Given the description of an element on the screen output the (x, y) to click on. 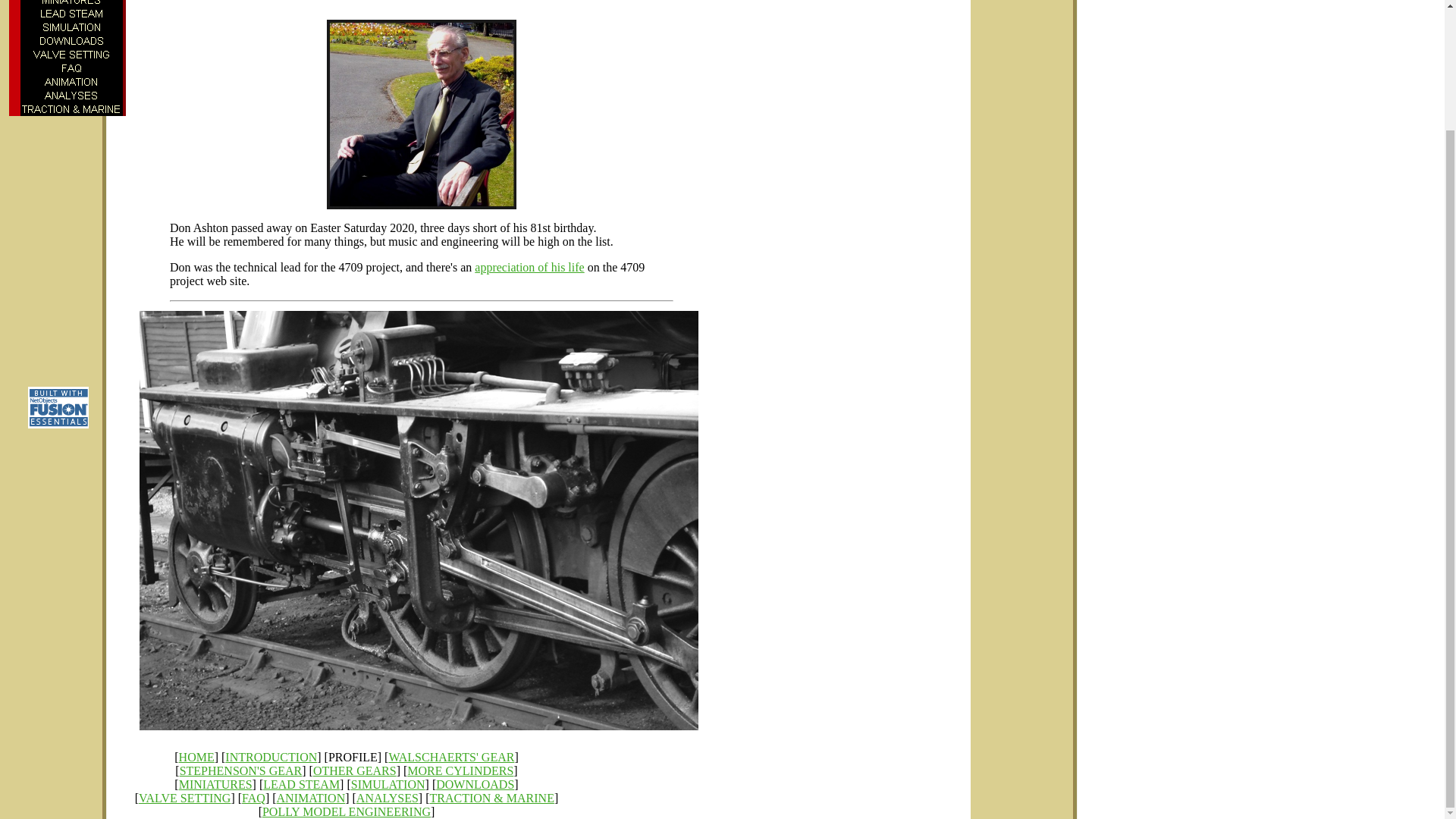
VALVE SETTING (70, 54)
DOWNLOADS (474, 784)
FAQ (252, 797)
DOWNLOADS (70, 40)
MINIATURES (215, 784)
SIMULATION (70, 27)
SIMULATION (387, 784)
ANALYSES (387, 797)
MINIATURES (70, 3)
website design software (57, 423)
